Given the description of an element on the screen output the (x, y) to click on. 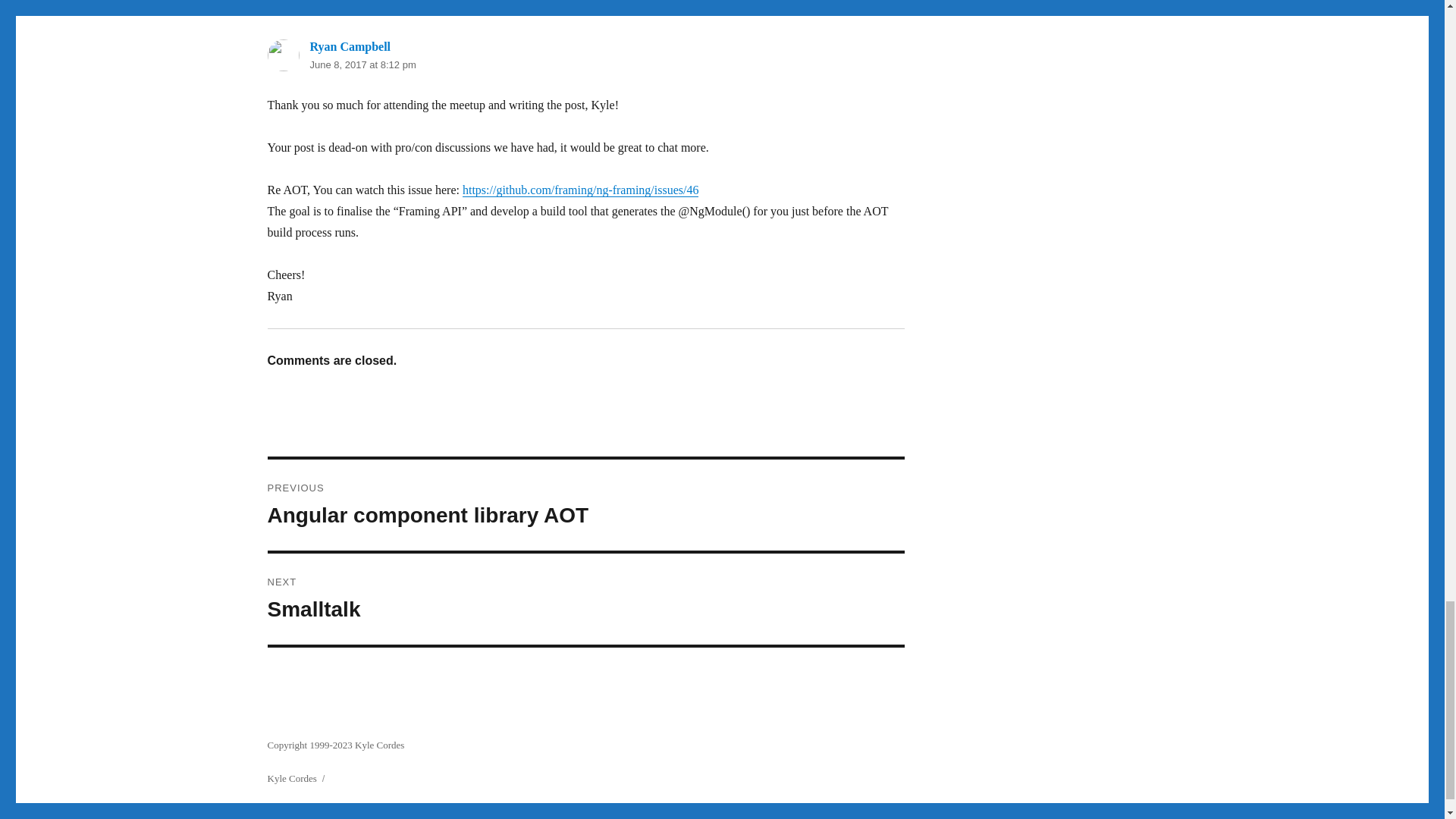
Ryan Campbell (349, 46)
June 8, 2017 at 8:12 pm (585, 504)
